Given the description of an element on the screen output the (x, y) to click on. 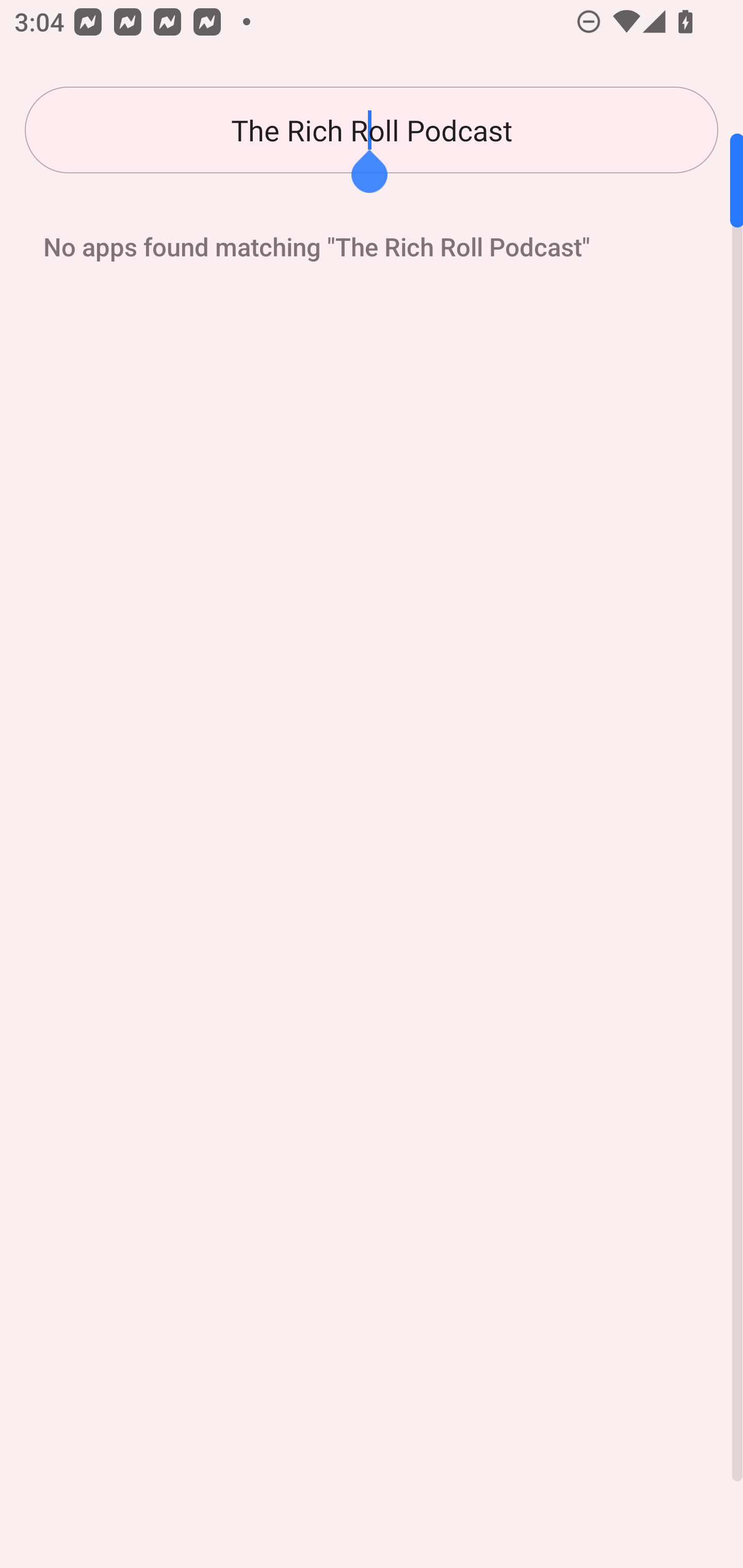
The Rich Roll Podcast (371, 130)
